Given the description of an element on the screen output the (x, y) to click on. 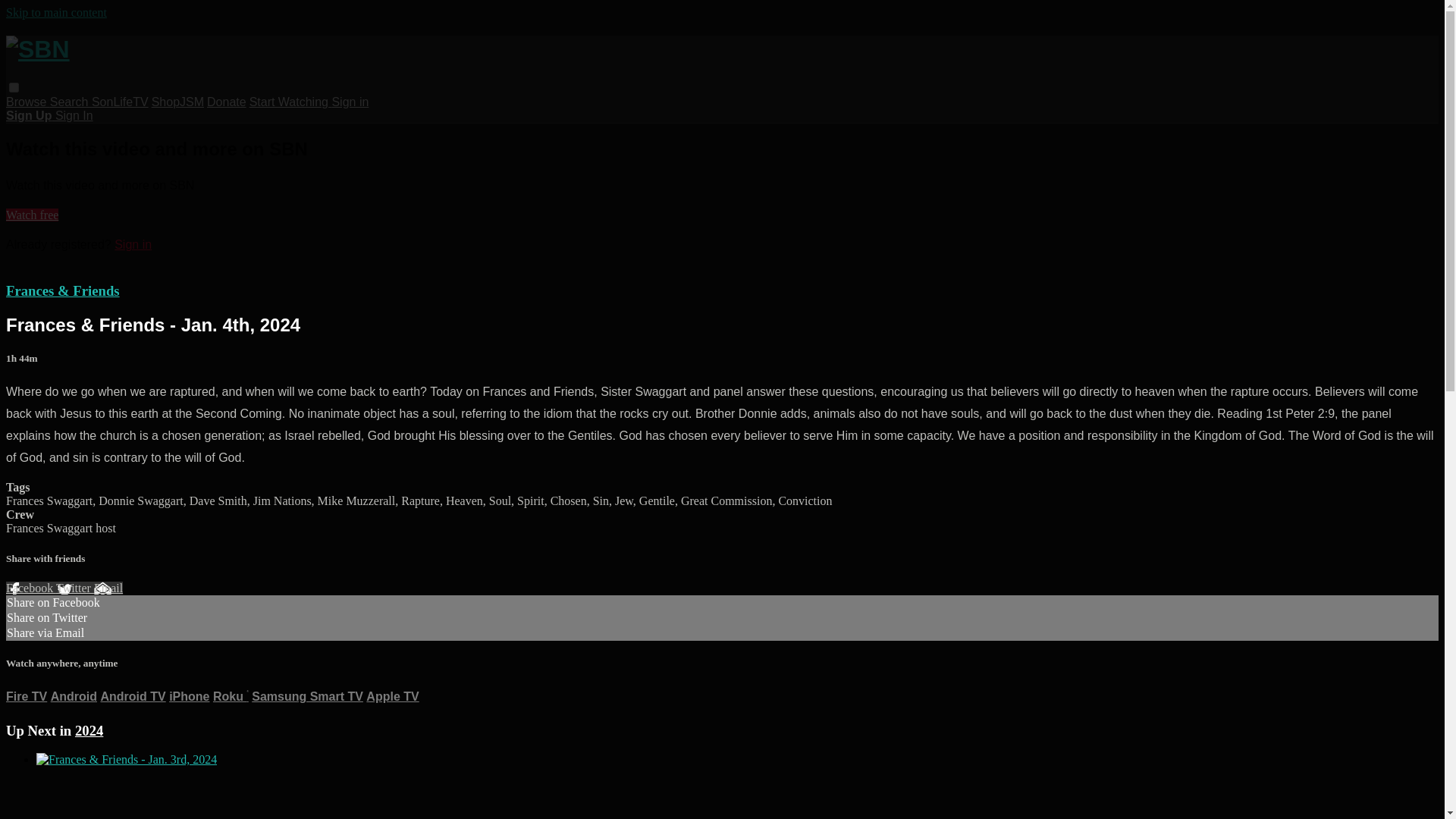
ShopJSM (177, 101)
Email (108, 587)
Skip to main content (55, 11)
Browse (27, 101)
Heaven (464, 500)
Spirit (530, 500)
Frances Swaggart (50, 527)
Start Watching (289, 101)
Samsung Smart TV (306, 696)
Sign In (74, 115)
Search (70, 101)
Facebook (30, 587)
Soul (500, 500)
Watch free (31, 214)
Donnie Swaggart (141, 500)
